Given the description of an element on the screen output the (x, y) to click on. 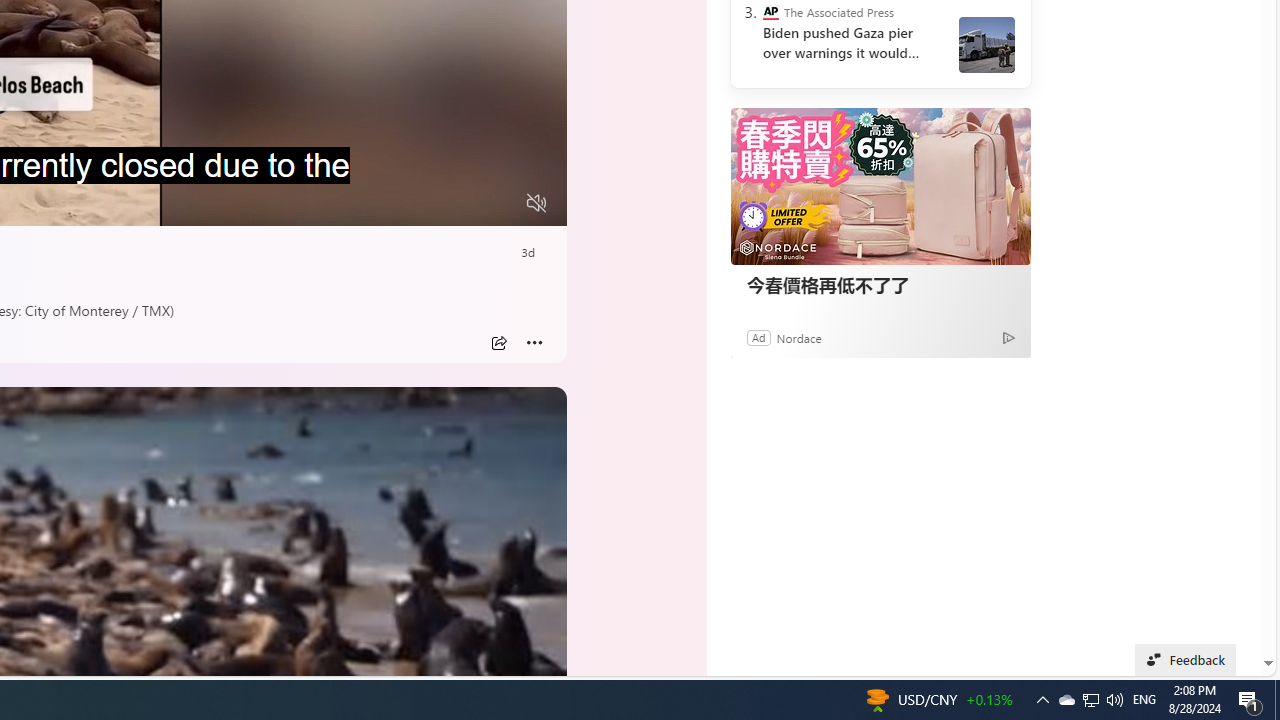
Quality Settings (418, 203)
Share (498, 343)
